Given the description of an element on the screen output the (x, y) to click on. 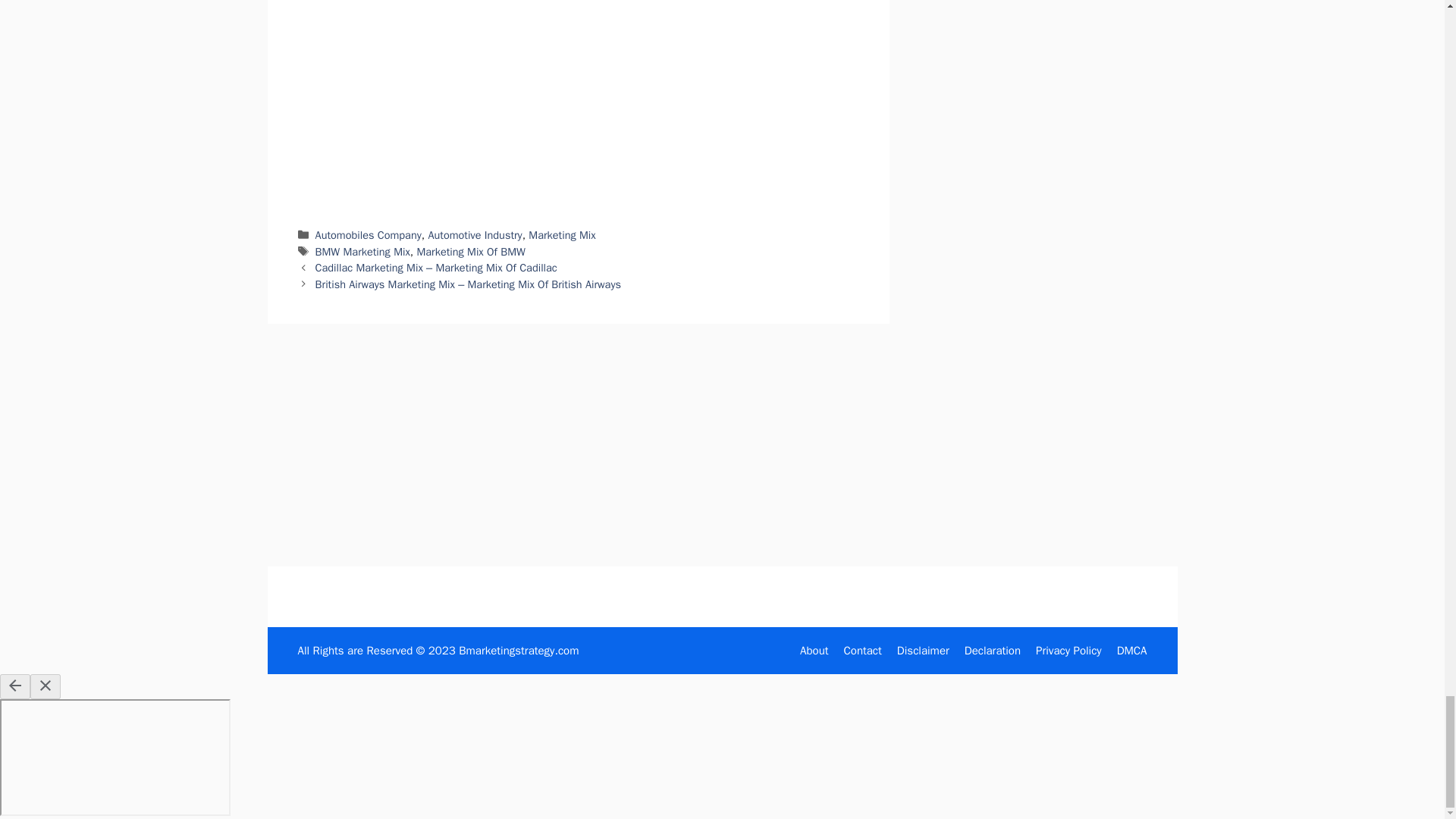
Marketing Mix (561, 234)
Automobiles Company (368, 234)
Automotive Industry (474, 234)
BMW Marketing Mix (362, 251)
Marketing Mix Of BMW (470, 251)
